Given the description of an element on the screen output the (x, y) to click on. 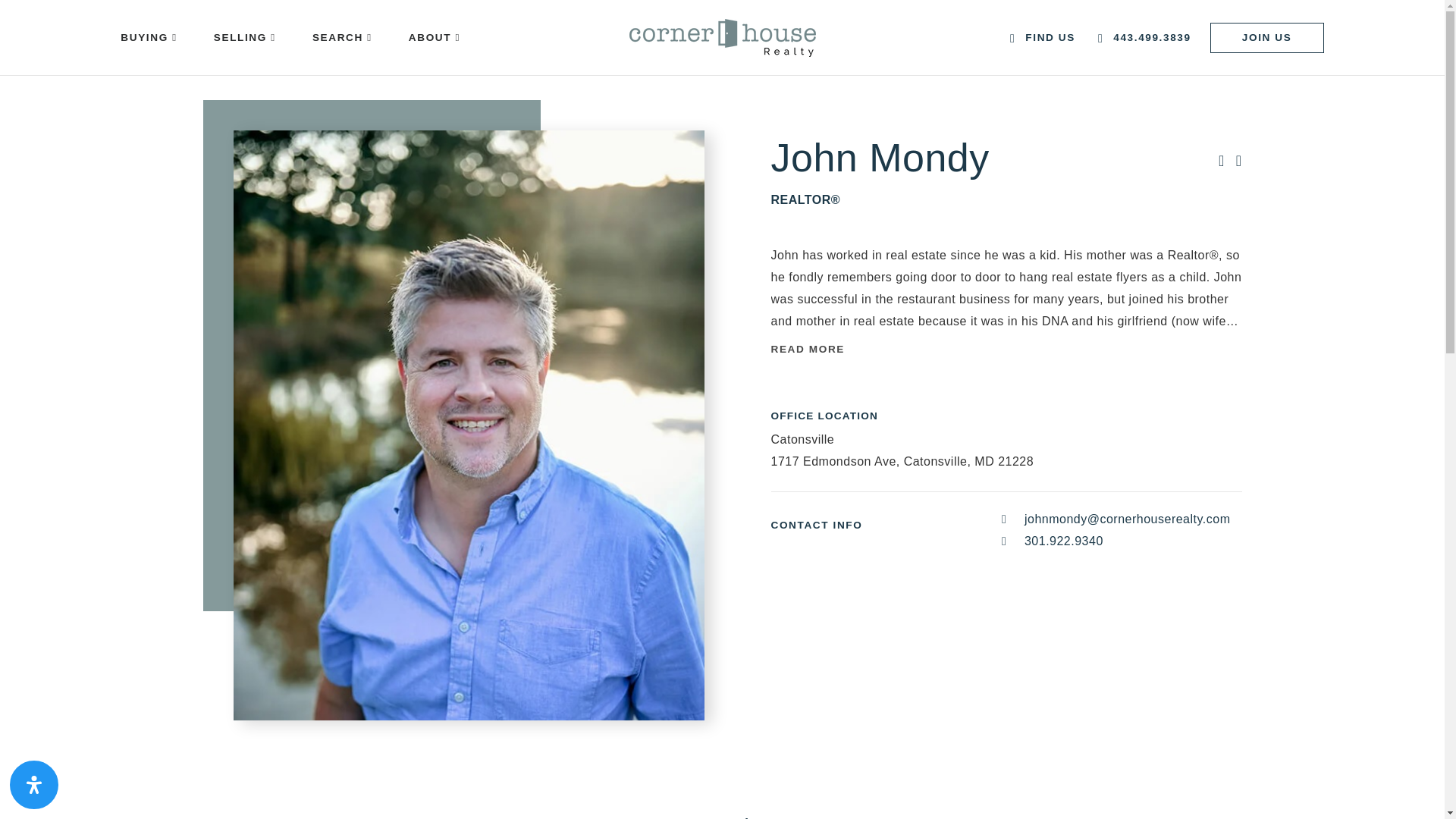
SEARCH (342, 37)
Phone Number (1115, 541)
FIND US (1042, 38)
JOIN US (1266, 37)
BUYING (148, 37)
ABOUT (434, 37)
Email address (1115, 519)
443.499.3839 (1144, 38)
SELLING (244, 37)
